Given the description of an element on the screen output the (x, y) to click on. 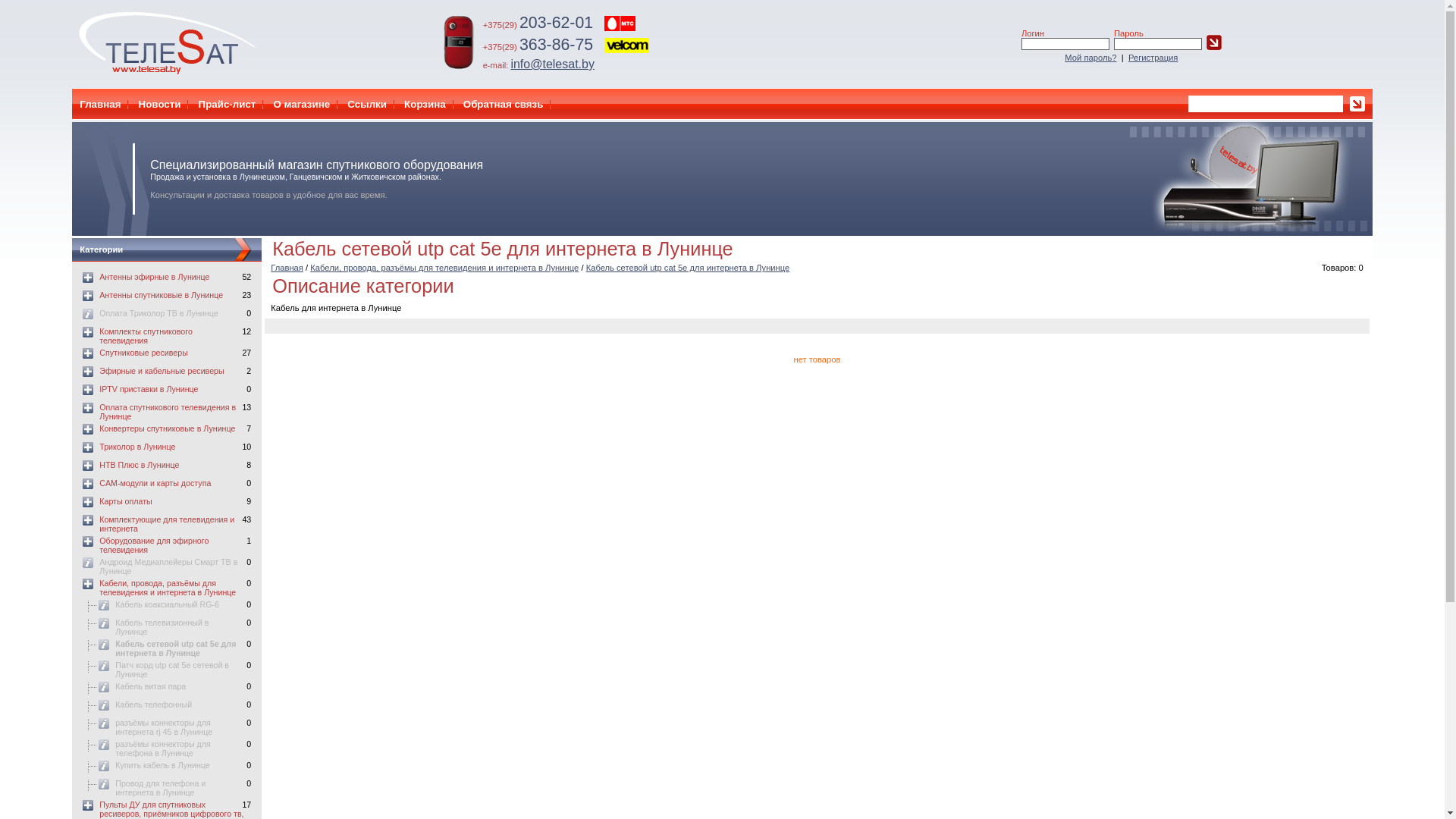
info@telesat.by Element type: text (552, 63)
